Given the description of an element on the screen output the (x, y) to click on. 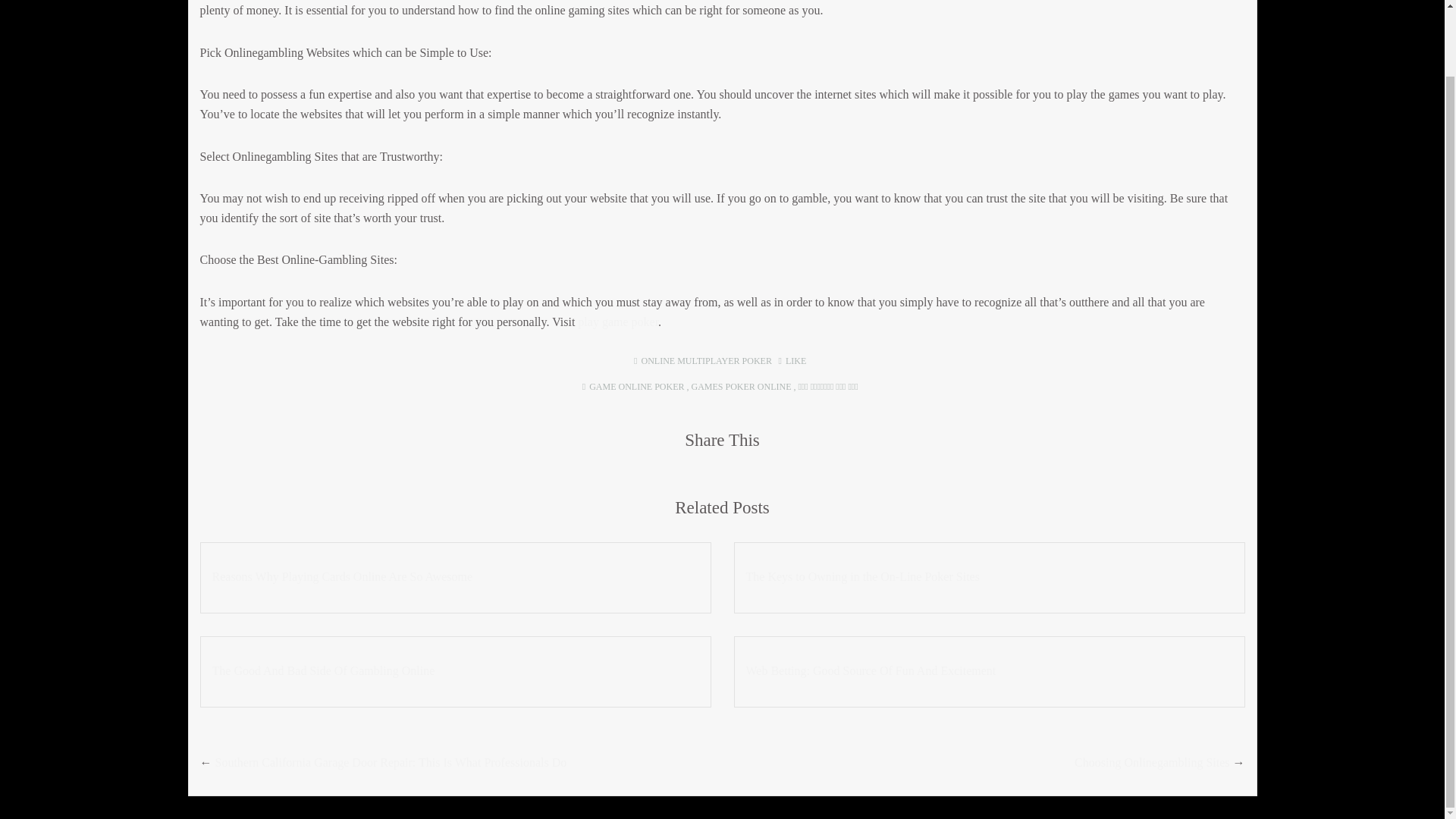
GAMES POKER ONLINE (740, 386)
Web Betting: Good Source Of Fun And Excitement (989, 670)
Choosing Onlinegambling Sites (1151, 762)
The Keys to Owning in the On-Line Poker Sites (989, 576)
Web Betting: Good Source Of Fun And Excitement (989, 670)
The Keys to Owning in the On-Line Poker Sites (989, 576)
play game poker (618, 321)
The Good And Bad Side Of Gambling Online (455, 670)
Reasons Why Playing Cards Online Are So Awesome (455, 576)
The Good And Bad Side Of Gambling Online (455, 670)
Reasons Why Playing Cards Online Are So Awesome (455, 576)
 LIKE (792, 360)
GAME ONLINE POKER (636, 386)
Like (792, 360)
